Given the description of an element on the screen output the (x, y) to click on. 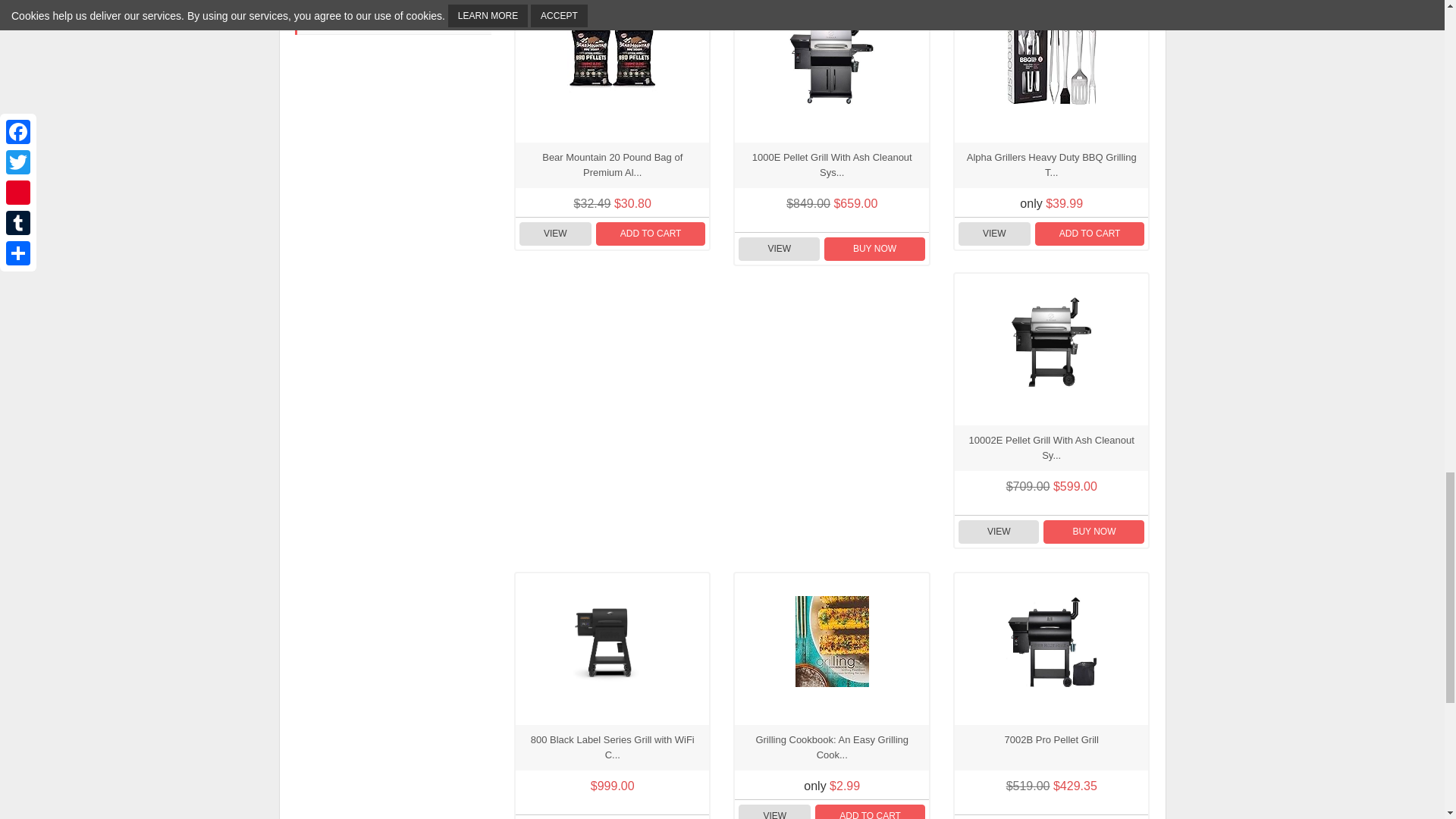
1000E Pellet Grill With Ash Cleanout System (831, 58)
800 Black Label Series Grill with WiFi Control (612, 641)
7002B Pro Pellet Grill (1051, 641)
10002E Pellet Grill With Ash Cleanout System (1051, 341)
